Given the description of an element on the screen output the (x, y) to click on. 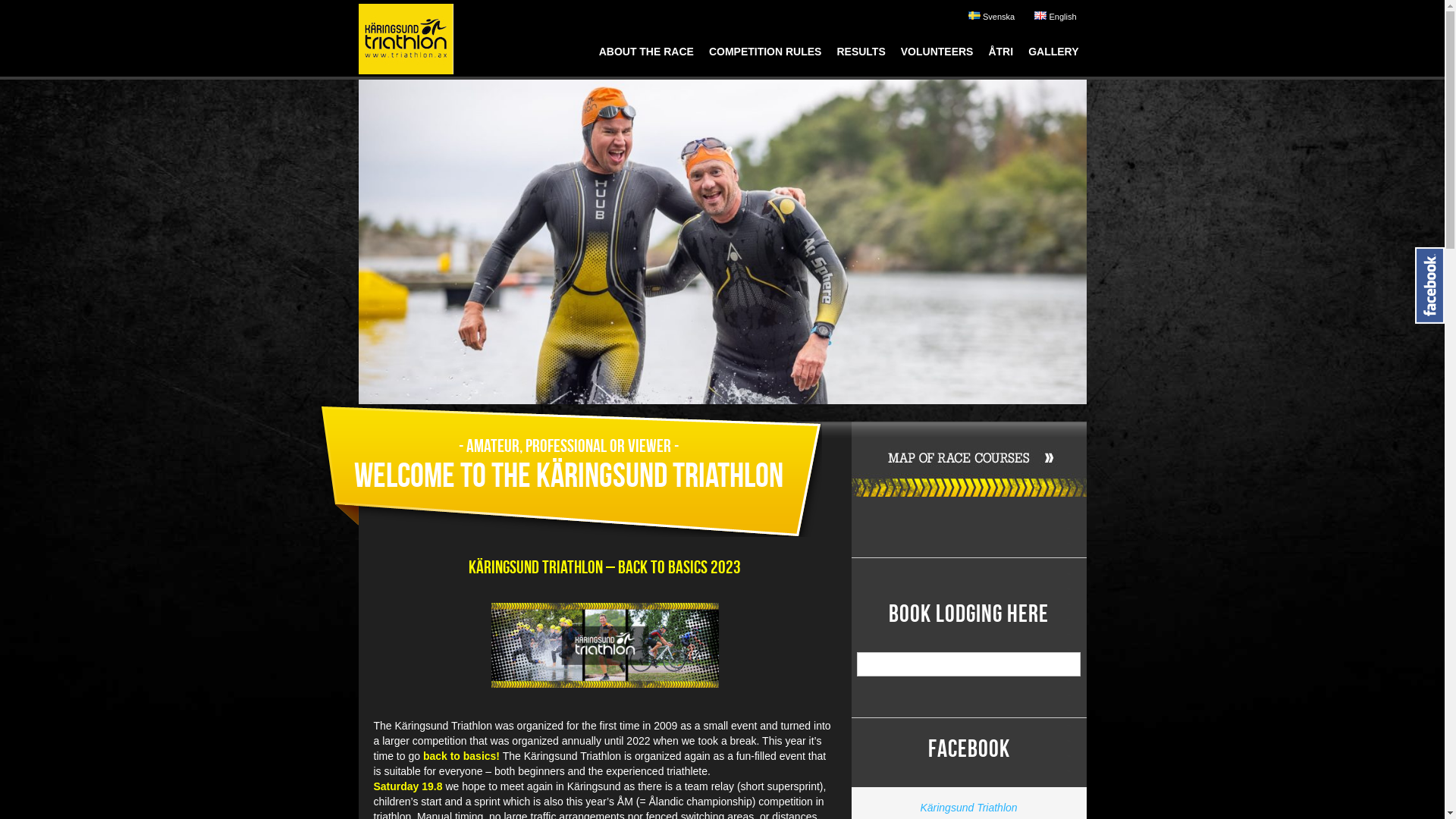
COMPETITION RULES Element type: text (765, 56)
Svenska Element type: text (991, 16)
VOLUNTEERS Element type: text (937, 56)
English Element type: text (1054, 16)
RESULTS Element type: text (860, 56)
ABOUT THE RACE Element type: text (646, 56)
GALLERY Element type: text (1052, 56)
